Given the description of an element on the screen output the (x, y) to click on. 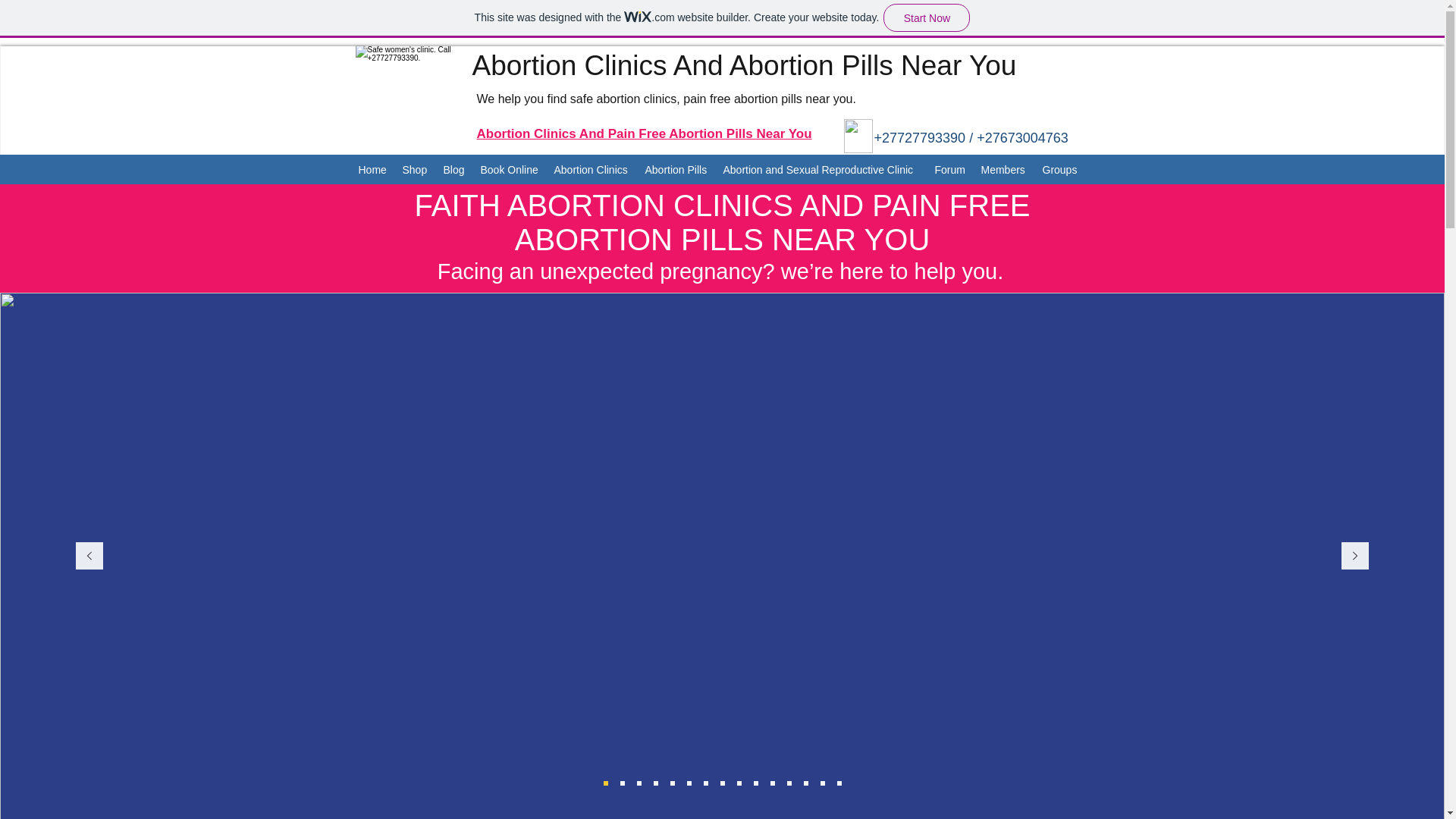
Shop (414, 169)
Home (372, 169)
Abortion Clinics (591, 169)
Book Online (510, 169)
Abortion Pills in Johannesburg (857, 135)
Blog (453, 169)
